Given the description of an element on the screen output the (x, y) to click on. 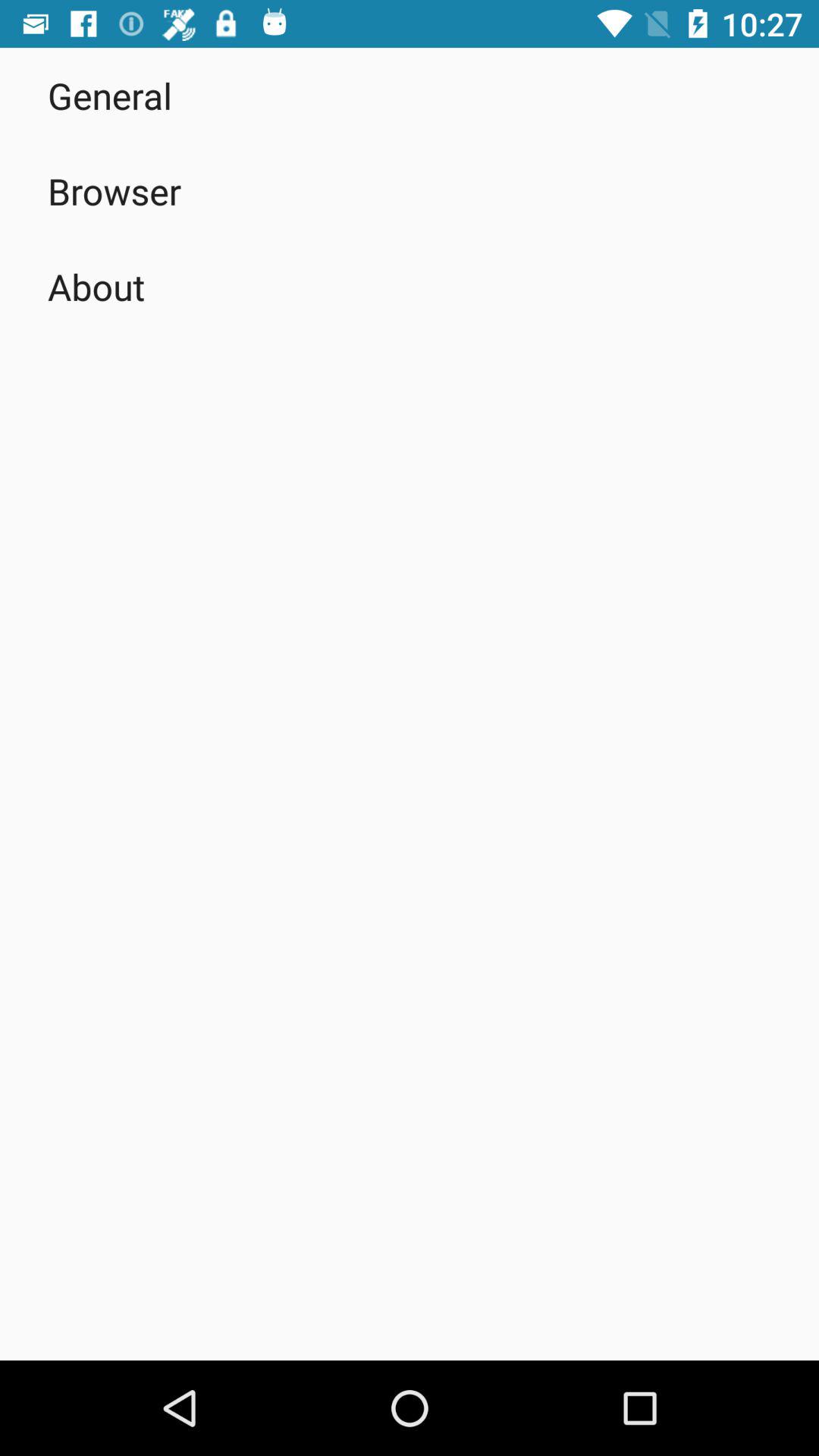
choose the browser app (114, 190)
